Given the description of an element on the screen output the (x, y) to click on. 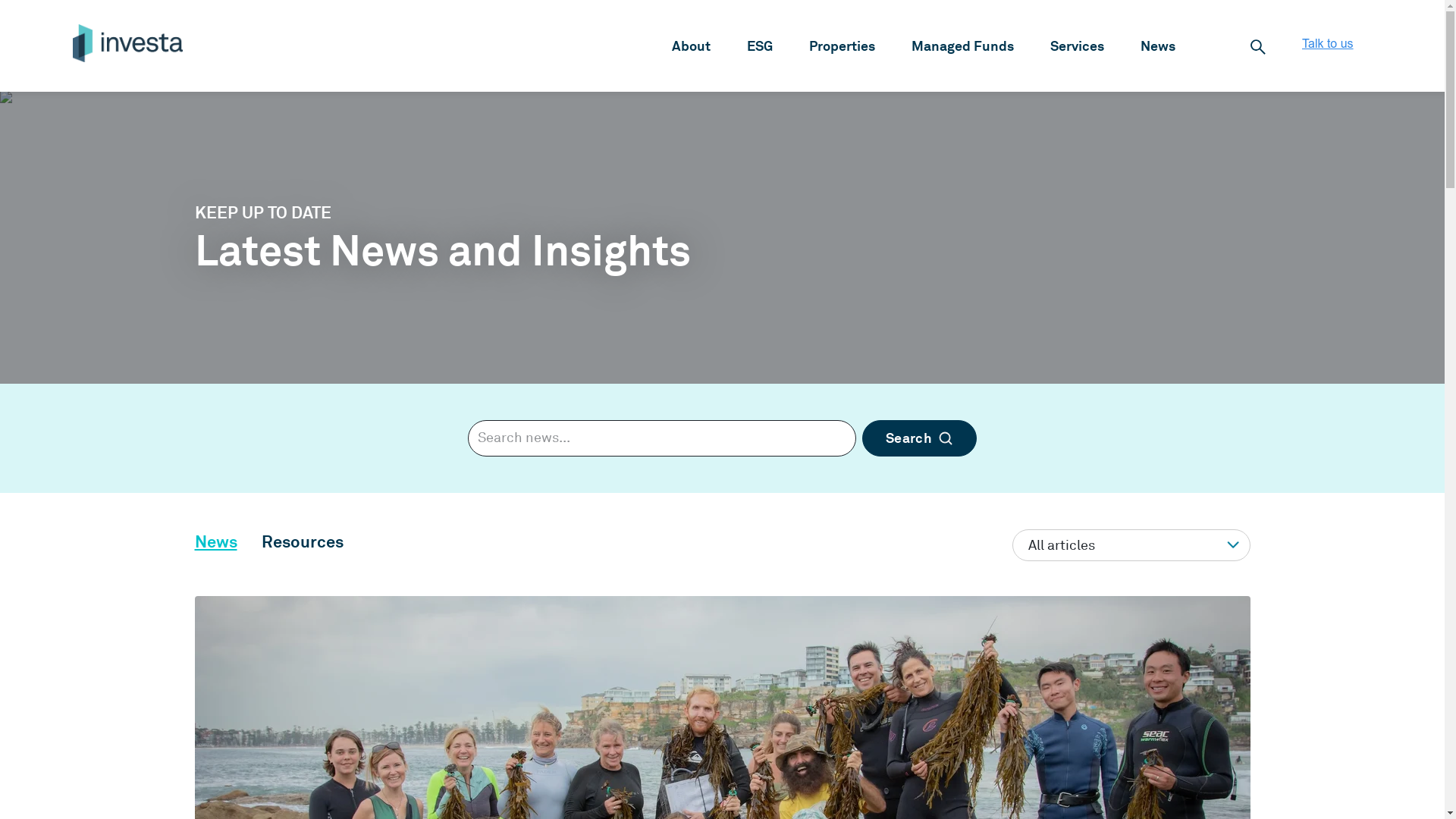
About Element type: text (690, 45)
News Element type: text (215, 541)
Services Element type: text (1077, 45)
ESG Element type: text (759, 45)
Properties Element type: text (841, 45)
Managed Funds Element type: text (962, 45)
Search Element type: text (919, 438)
Awards Module Banner Element type: hover (79, 100)
Resources Element type: text (301, 541)
investa_logo Element type: hover (127, 43)
Search Element type: hover (1257, 46)
News Element type: text (1157, 45)
